Given the description of an element on the screen output the (x, y) to click on. 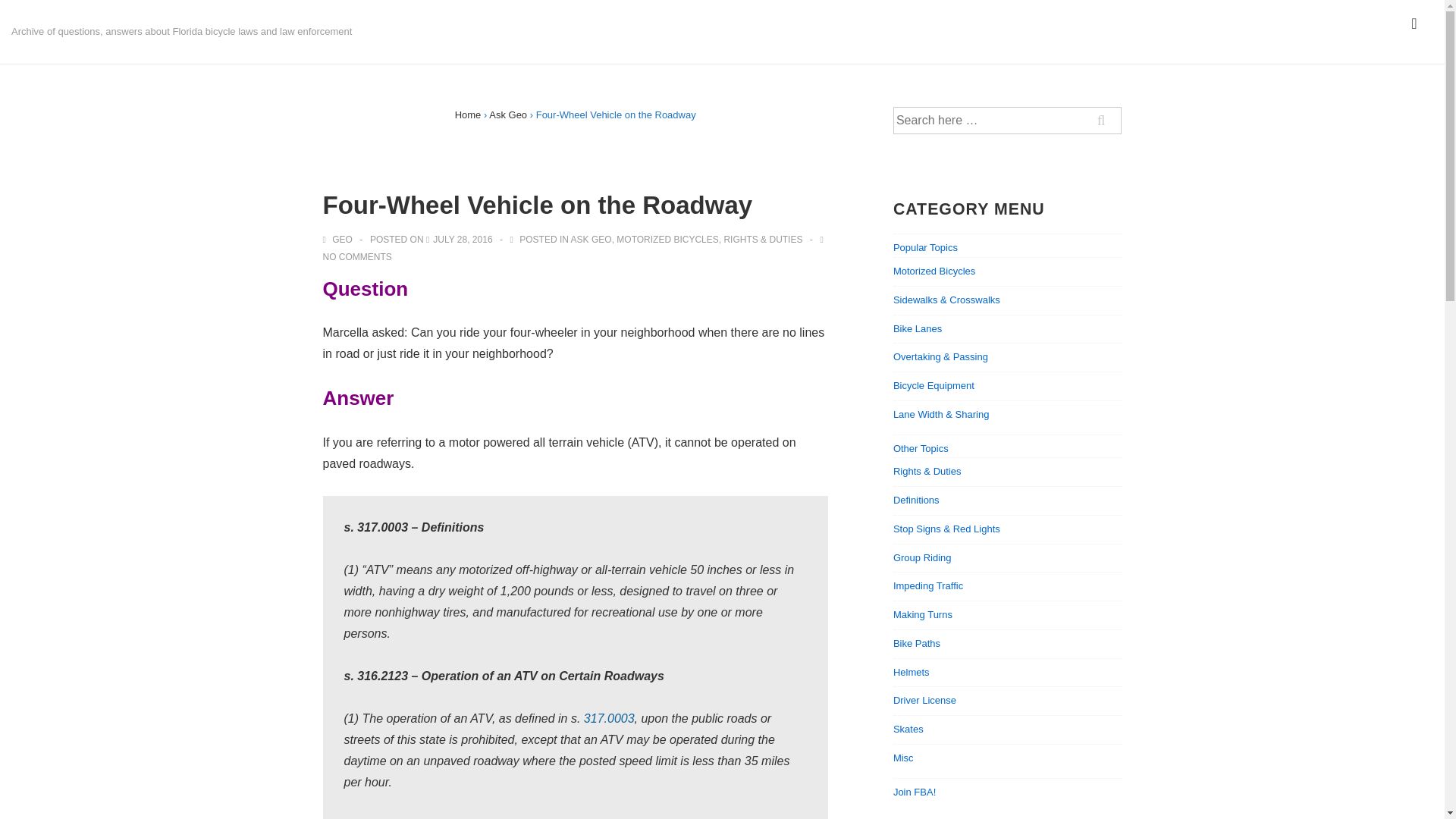
Home (467, 114)
ASK GEO (590, 239)
View all posts by Geo (339, 239)
Four-Wheel Vehicle on the Roadway (462, 239)
JULY 28, 2016 (462, 239)
Ask Geo (508, 114)
GEO (339, 239)
MENU (1414, 23)
NO COMMENTS (357, 256)
317.0003 (608, 717)
MOTORIZED BICYCLES (666, 239)
